Given the description of an element on the screen output the (x, y) to click on. 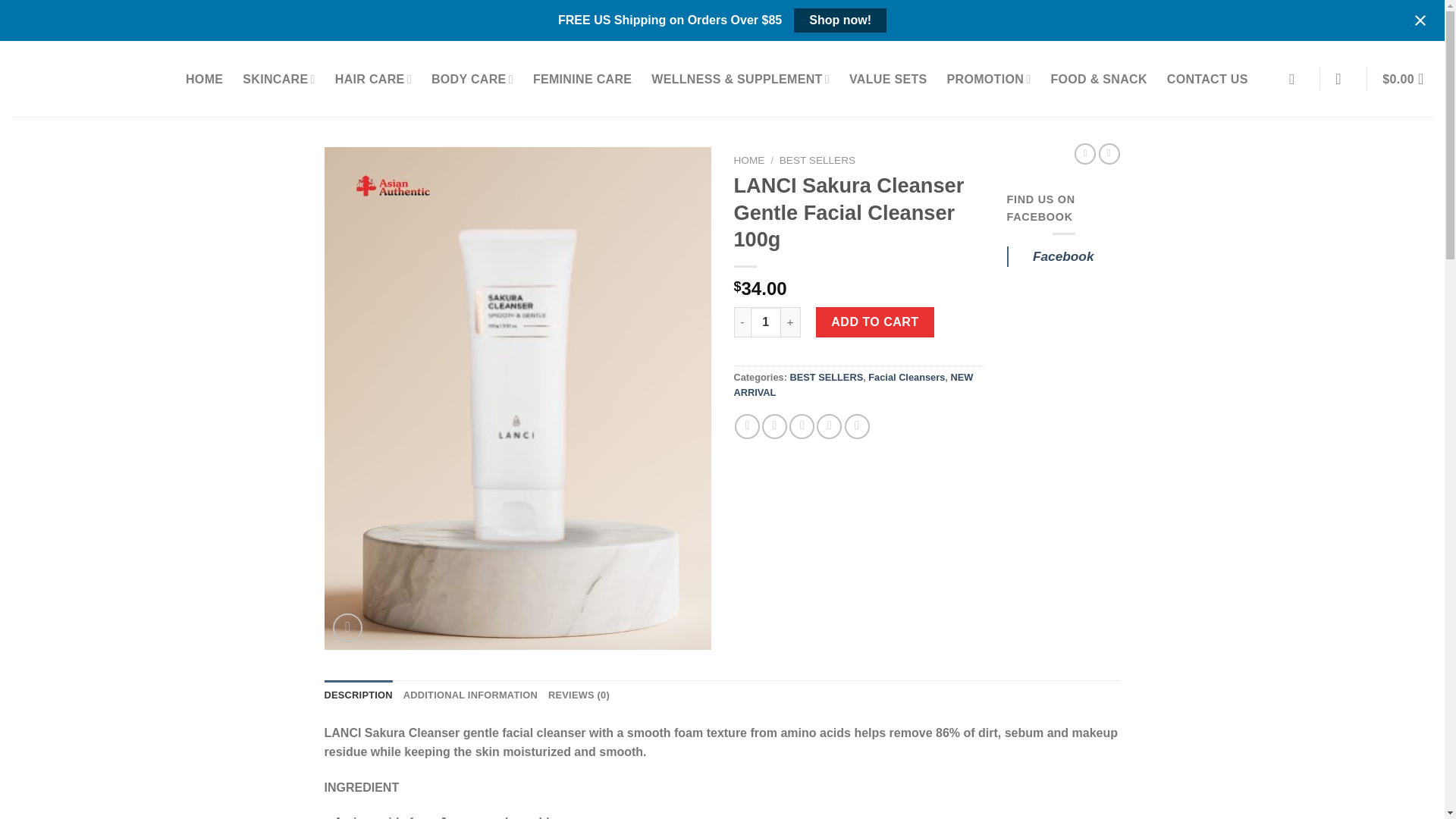
Email to a Friend (801, 426)
1 (765, 322)
FEMININE CARE (581, 79)
HAIR CARE (373, 79)
Qty (765, 322)
Share on Twitter (774, 426)
Pin on Pinterest (828, 426)
Share on Facebook (747, 426)
BODY CARE (471, 79)
HOME (204, 79)
